Given the description of an element on the screen output the (x, y) to click on. 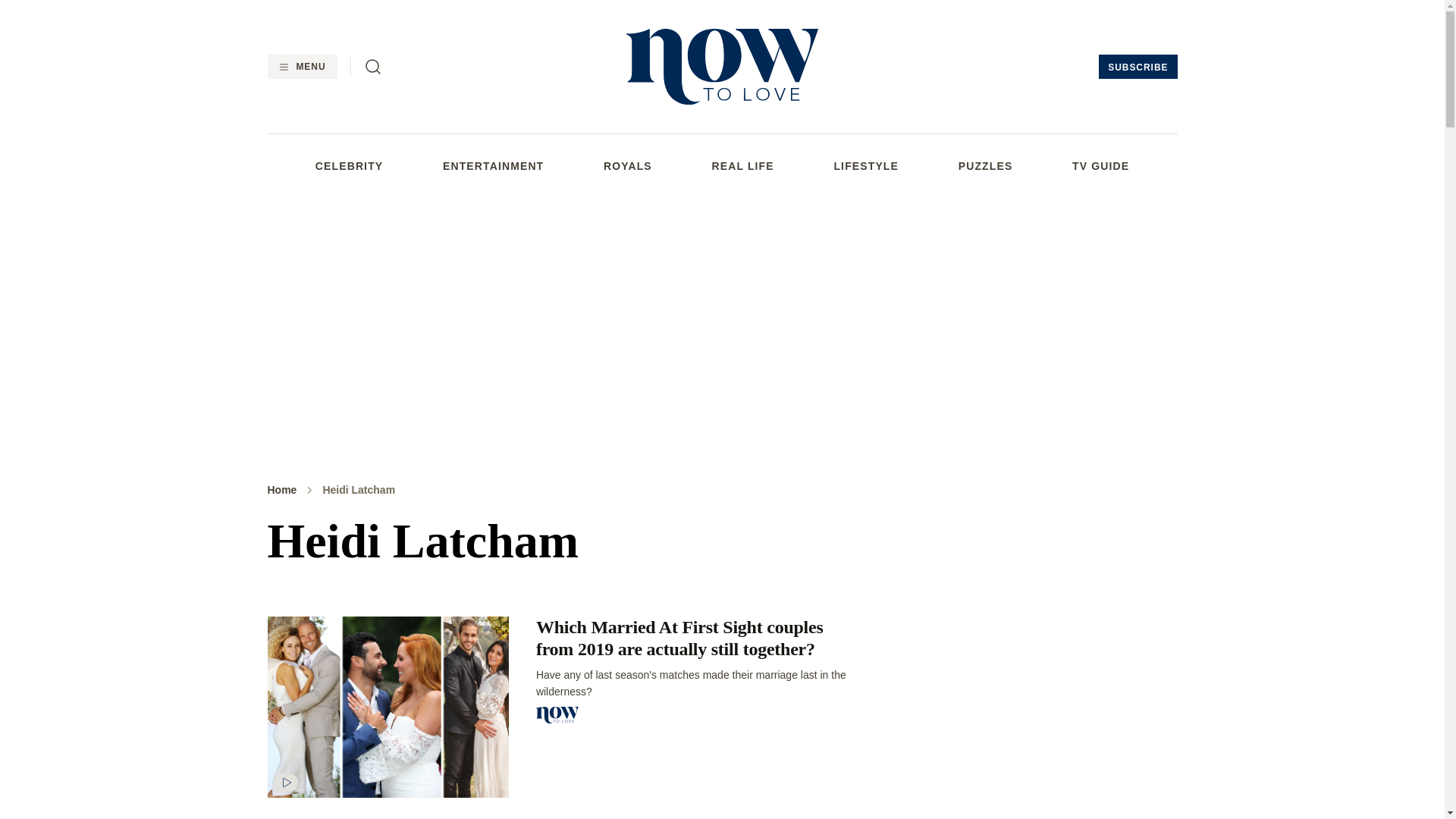
SUBSCRIBE (1137, 66)
REAL LIFE (742, 165)
TV GUIDE (1100, 165)
ROYALS (628, 165)
LIFESTYLE (865, 165)
CELEBRITY (348, 165)
MENU (301, 66)
ENTERTAINMENT (492, 165)
PUZZLES (985, 165)
